Given the description of an element on the screen output the (x, y) to click on. 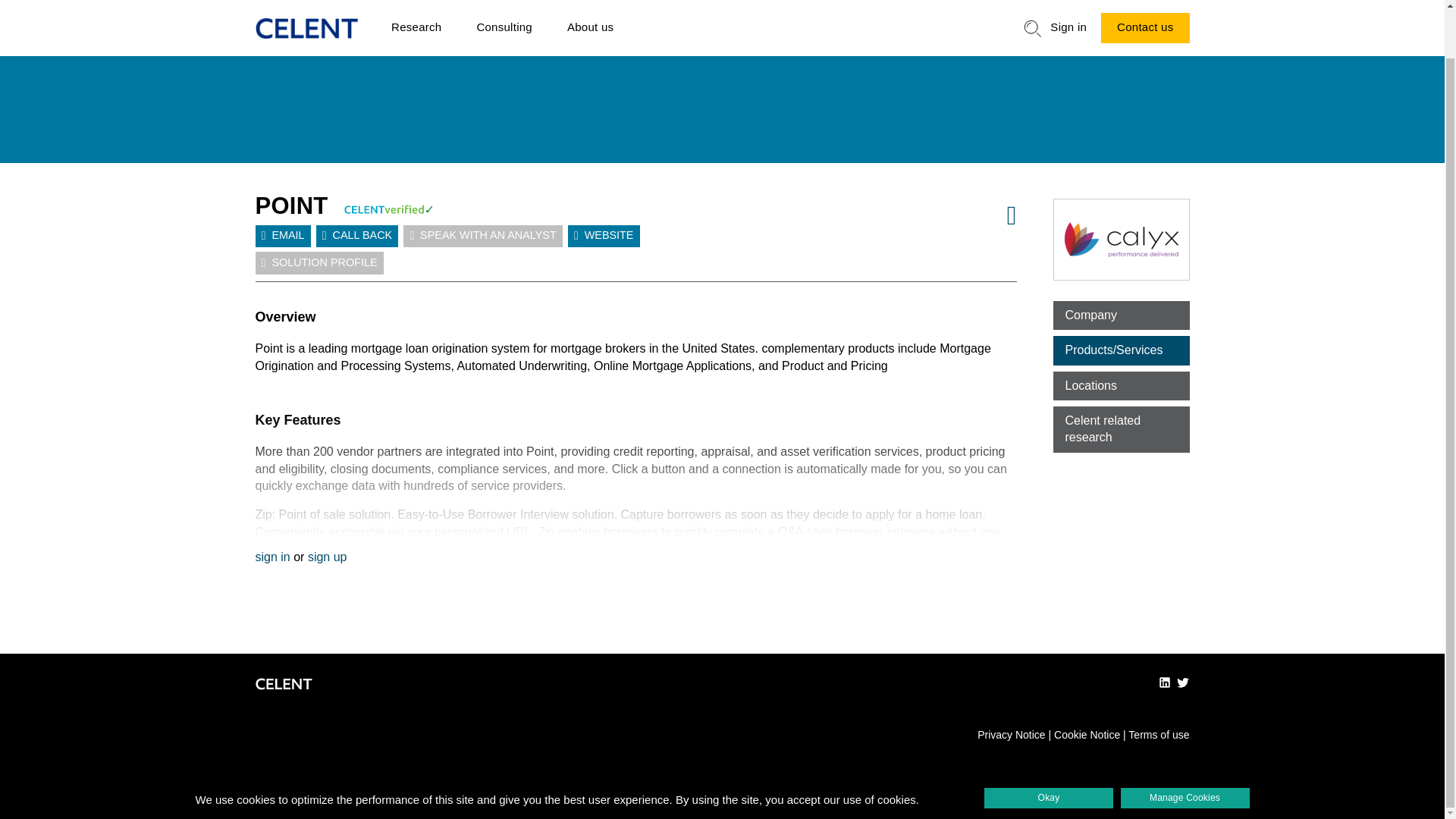
Home (306, 9)
Contact us (1144, 11)
Manage Cookies (1185, 746)
Consulting (503, 11)
Sign in (1068, 11)
About us (590, 11)
search (1032, 8)
Research (415, 11)
Okay (1048, 746)
